Given the description of an element on the screen output the (x, y) to click on. 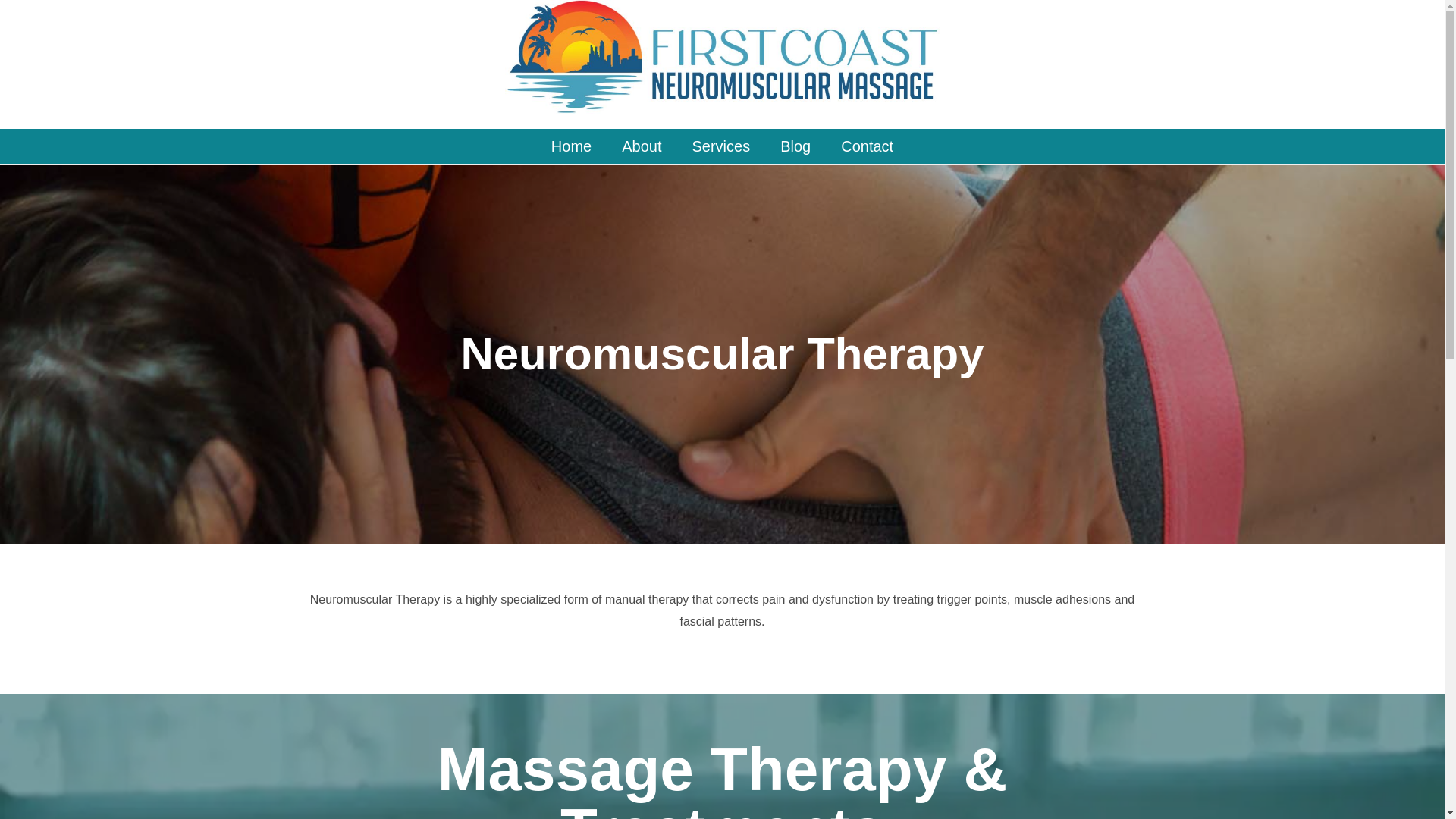
Home (571, 145)
Blog (795, 145)
Services (721, 145)
Contact (866, 145)
About (642, 145)
